Given the description of an element on the screen output the (x, y) to click on. 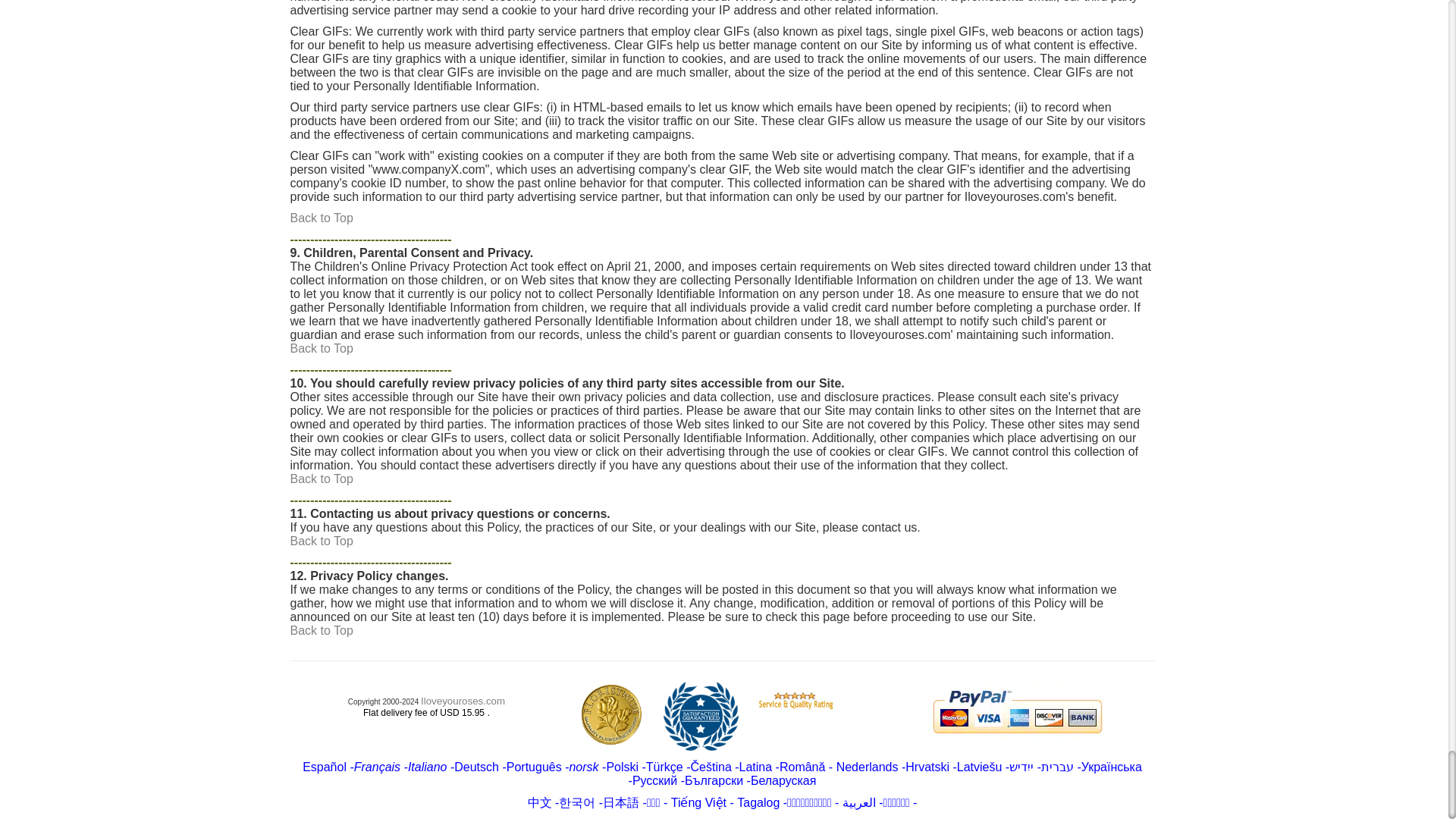
Romanian (803, 766)
Portuguese (534, 766)
German (476, 766)
Italian (426, 766)
Latvian (979, 766)
Belarusian (783, 780)
Croatian (927, 766)
Czech (733, 766)
Bulgarian (713, 780)
Latin (756, 766)
Dutch (866, 766)
Russian (654, 780)
Turkish (664, 766)
 Hebrew (1057, 766)
French (376, 766)
